Given the description of an element on the screen output the (x, y) to click on. 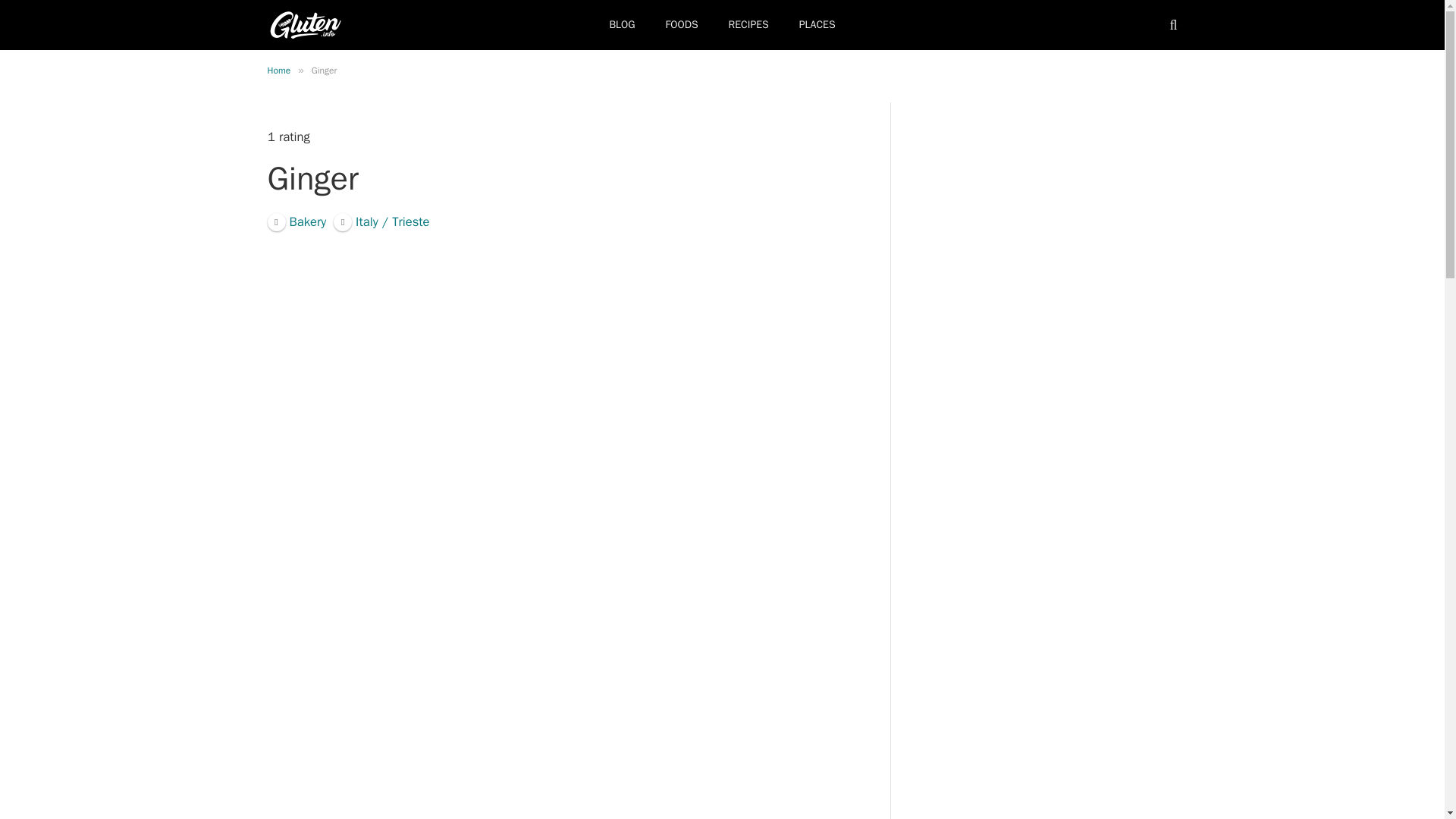
Bakery (296, 220)
RECIPES (748, 24)
PLACES (817, 24)
Bakery (296, 220)
Trieste (381, 220)
Home (277, 70)
FOODS (681, 24)
Gluten.info (304, 24)
BLOG (621, 24)
